Given the description of an element on the screen output the (x, y) to click on. 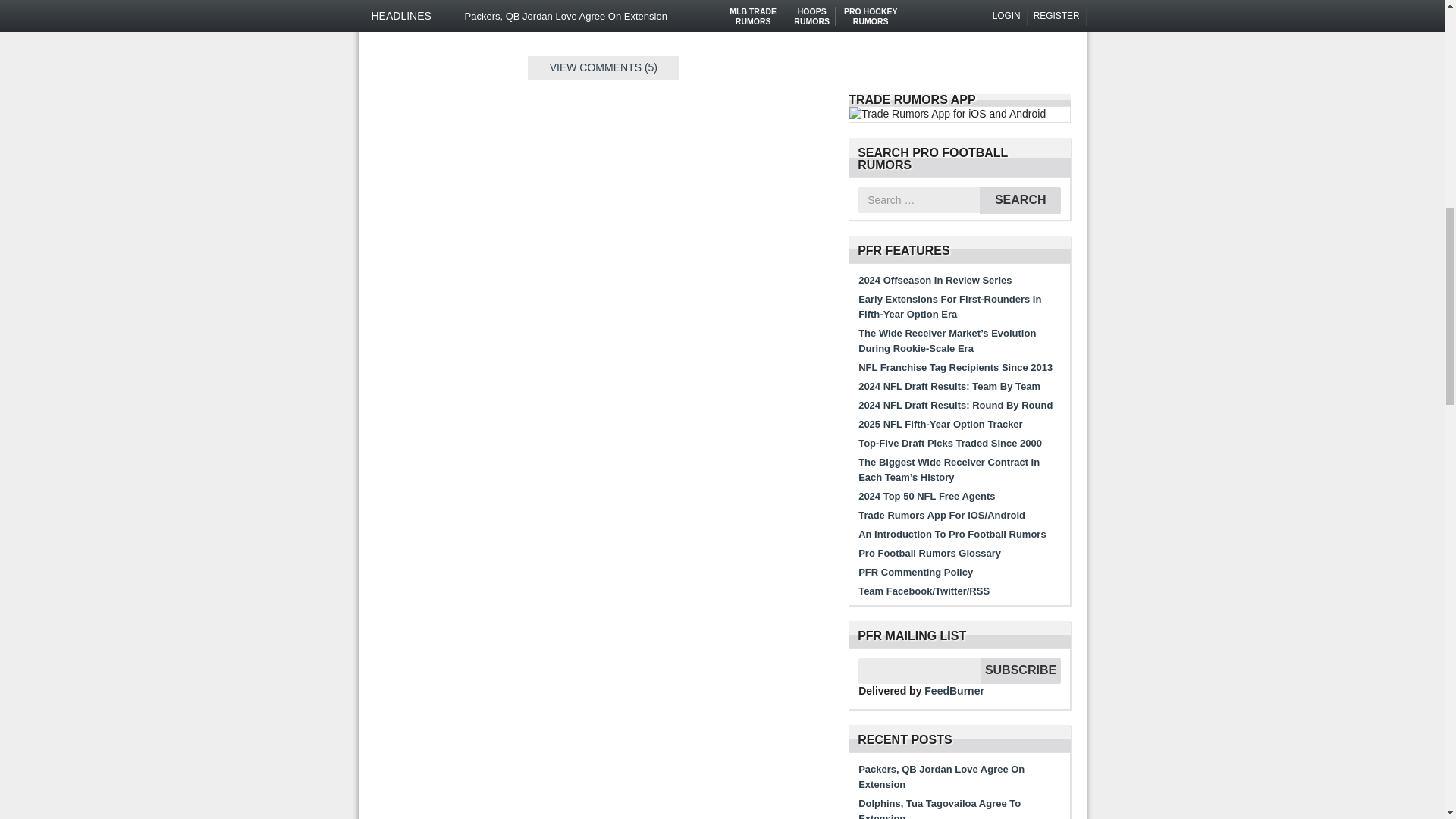
Subscribe (1020, 670)
View all posts in Minnesota Vikings (460, 18)
Search for: (919, 199)
View all posts in Irv Smith Jr. (589, 18)
View all posts in Nick Muse (644, 18)
Search (1020, 200)
View all posts in Transactions (531, 18)
